Given the description of an element on the screen output the (x, y) to click on. 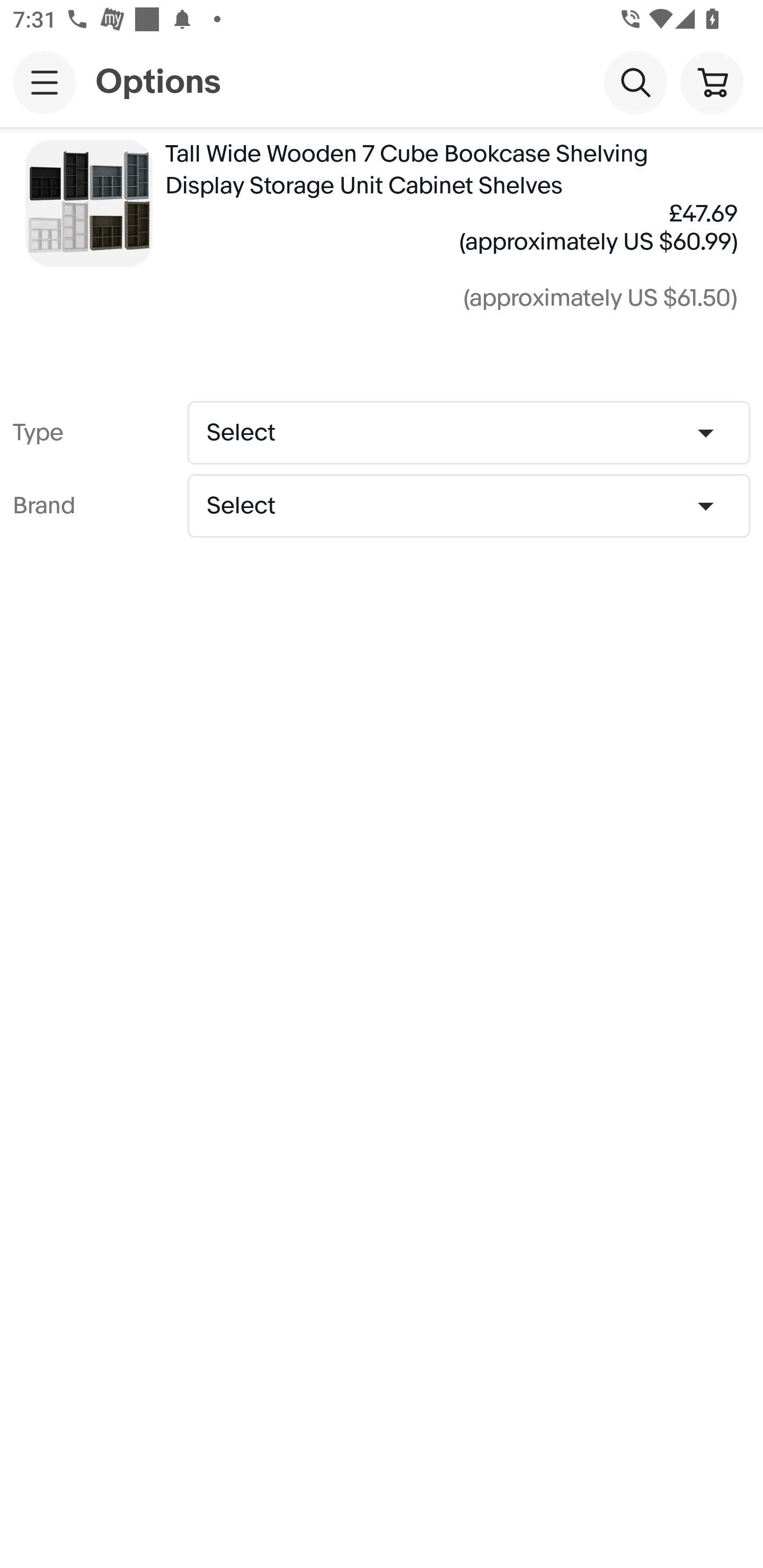
Main navigation, open (44, 82)
Search (635, 81)
Cart button shopping cart (711, 81)
Type,No selection Select (468, 432)
Brand,No selection Select (468, 505)
